Given the description of an element on the screen output the (x, y) to click on. 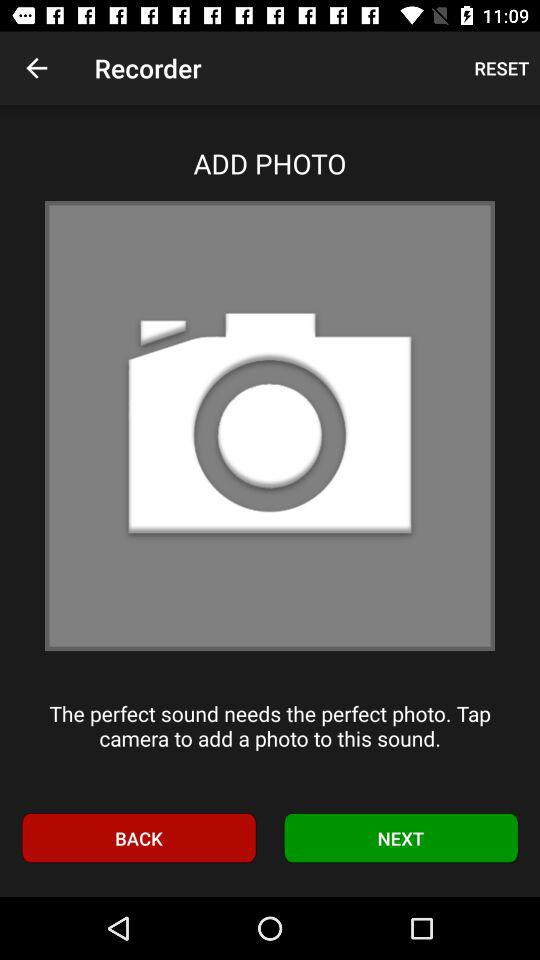
turn on icon next to the recorder app (36, 68)
